Given the description of an element on the screen output the (x, y) to click on. 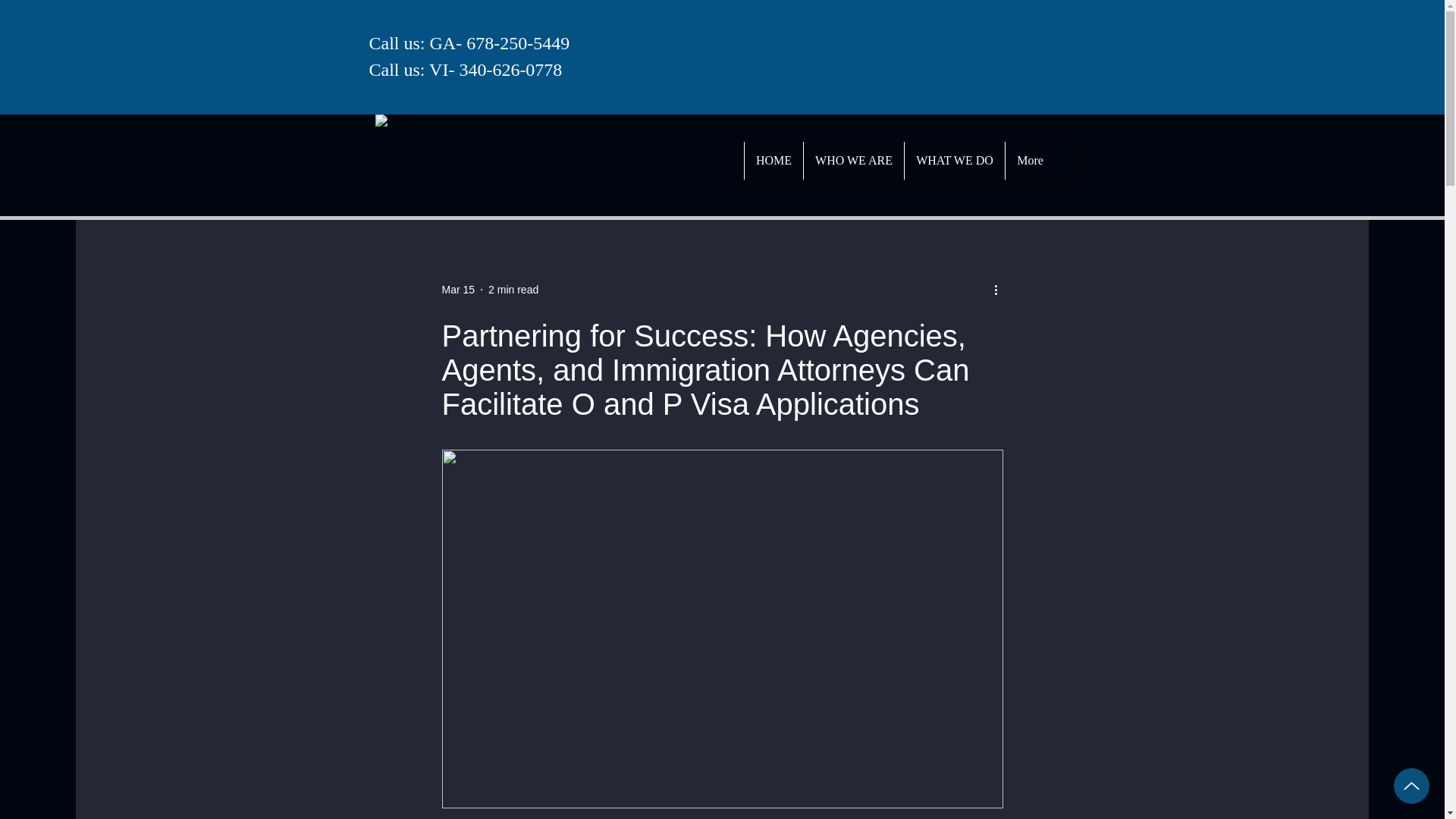
2 min read (512, 289)
WHAT WE DO (954, 160)
Mar 15 (457, 289)
WHO WE ARE (853, 160)
HOME (773, 160)
